Given the description of an element on the screen output the (x, y) to click on. 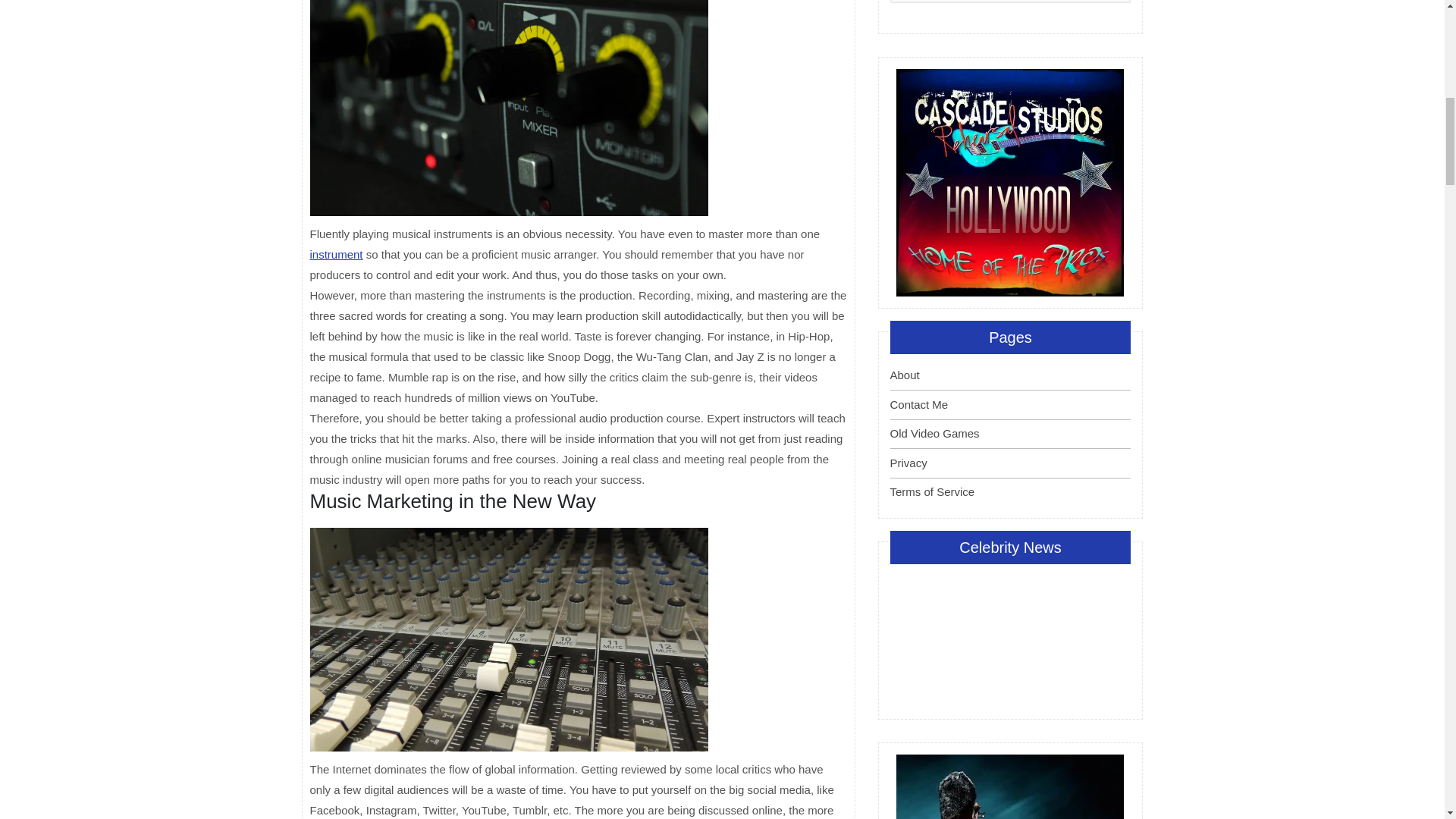
instrument (335, 254)
About (904, 374)
Old Video Games (934, 432)
Contact Me (919, 404)
Terms of Service (932, 491)
Privacy (908, 462)
TOP (1397, 73)
